Given the description of an element on the screen output the (x, y) to click on. 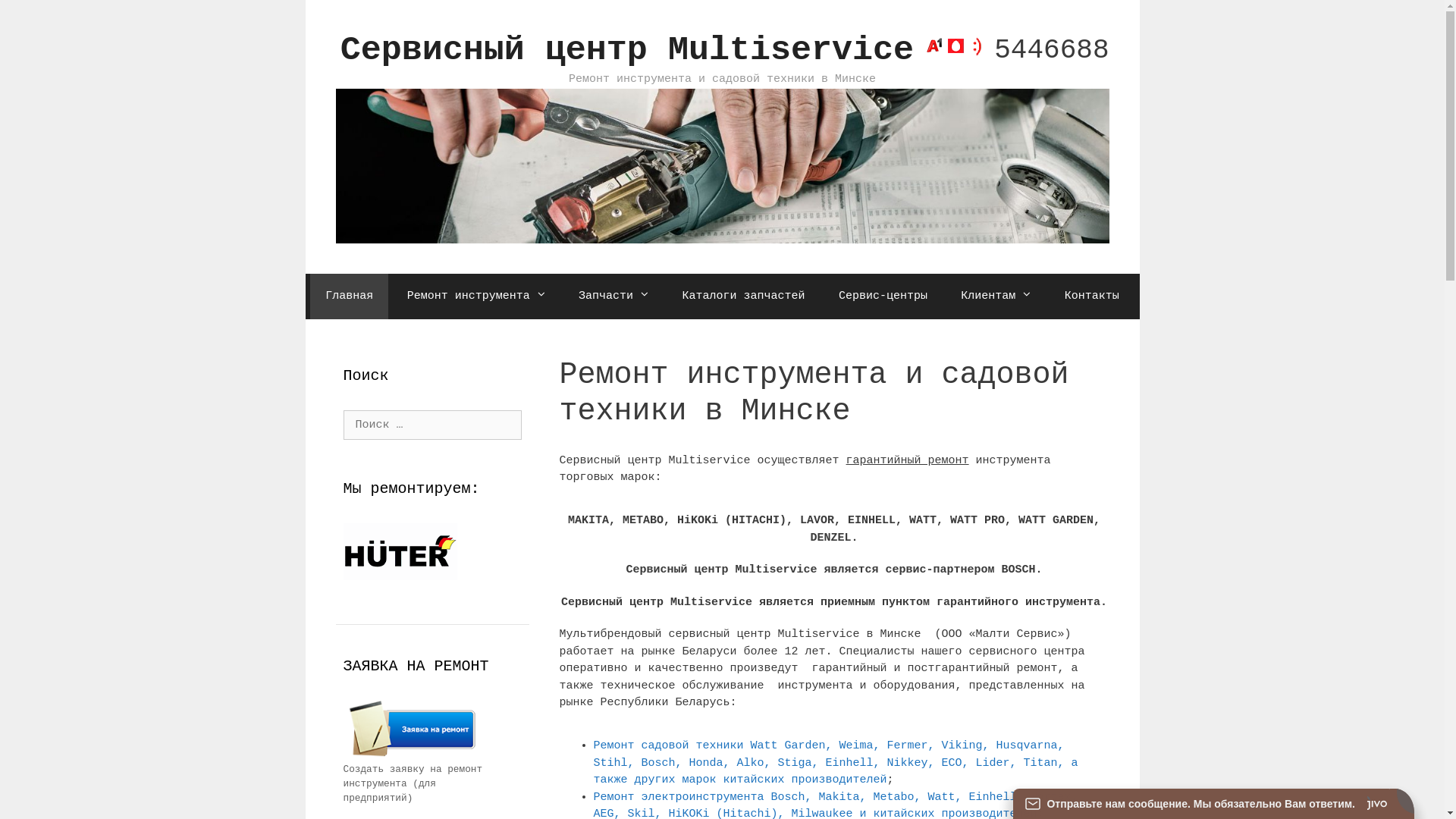
5446688 Element type: text (1013, 49)
